Given the description of an element on the screen output the (x, y) to click on. 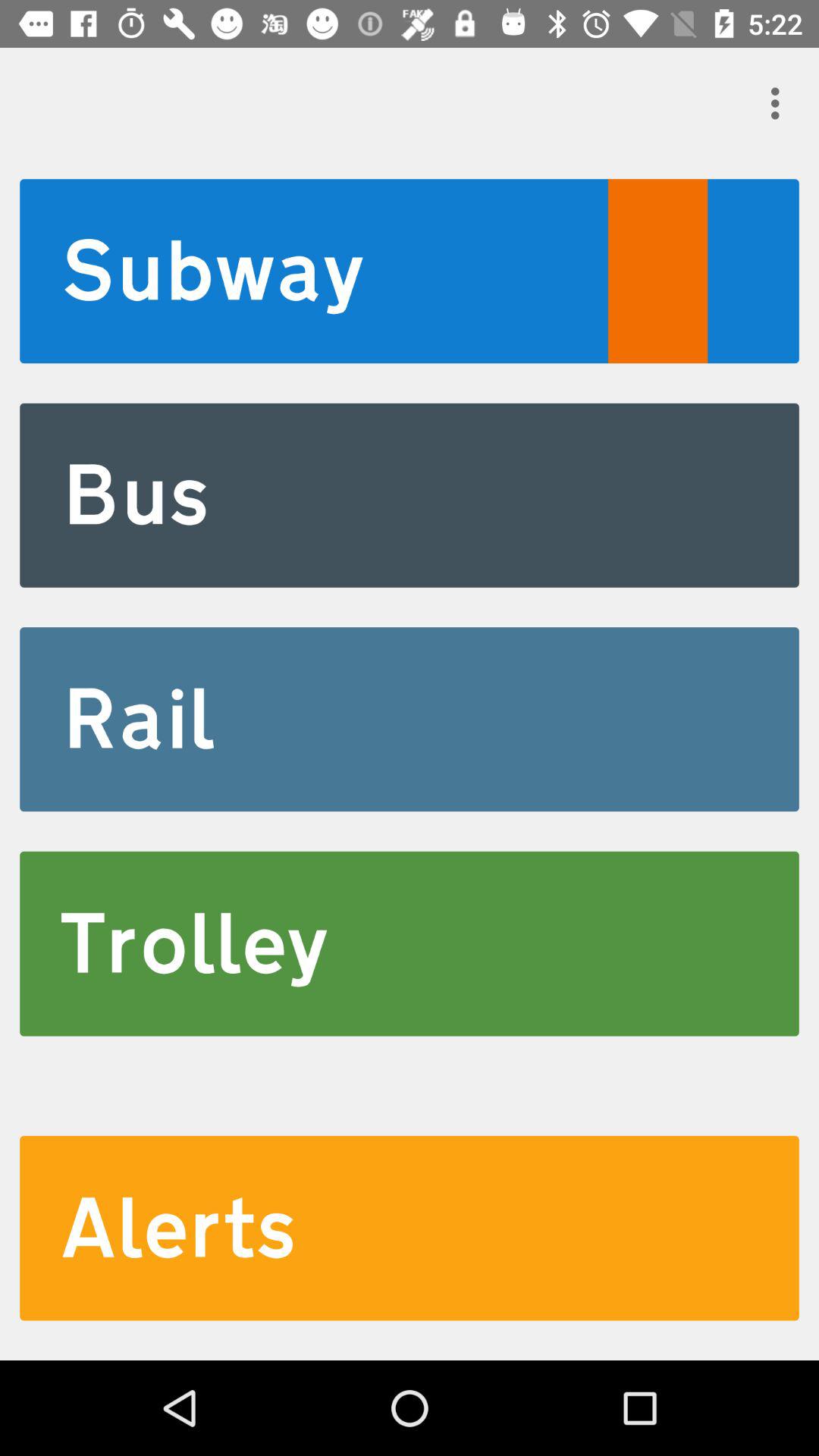
click icon above the alerts item (409, 943)
